Given the description of an element on the screen output the (x, y) to click on. 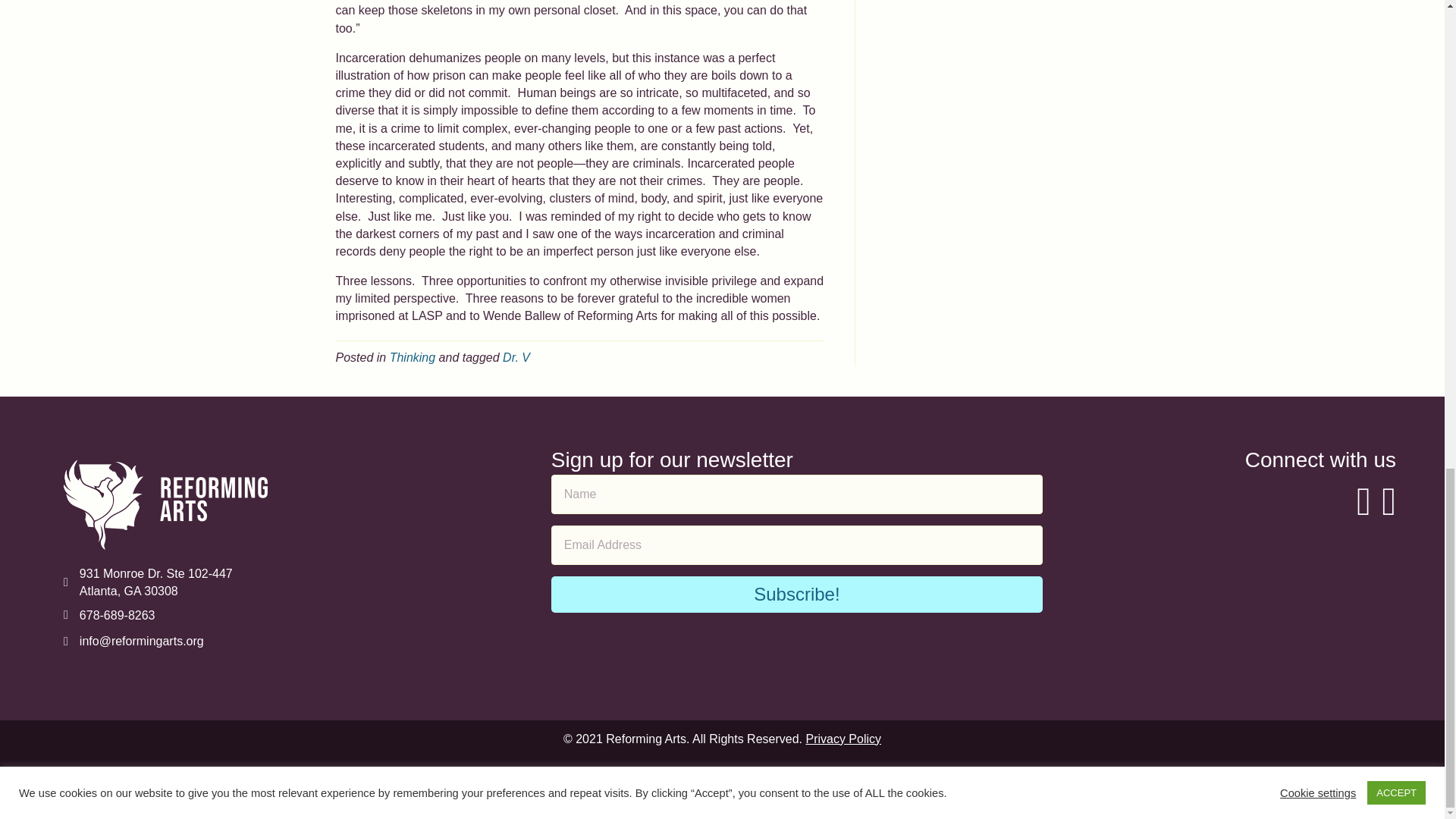
678-689-8263 (117, 615)
Privacy Policy (842, 738)
RA Logo - New Full White (165, 504)
Dr. V (515, 357)
Thinking (412, 357)
Subscribe! (796, 594)
